Given the description of an element on the screen output the (x, y) to click on. 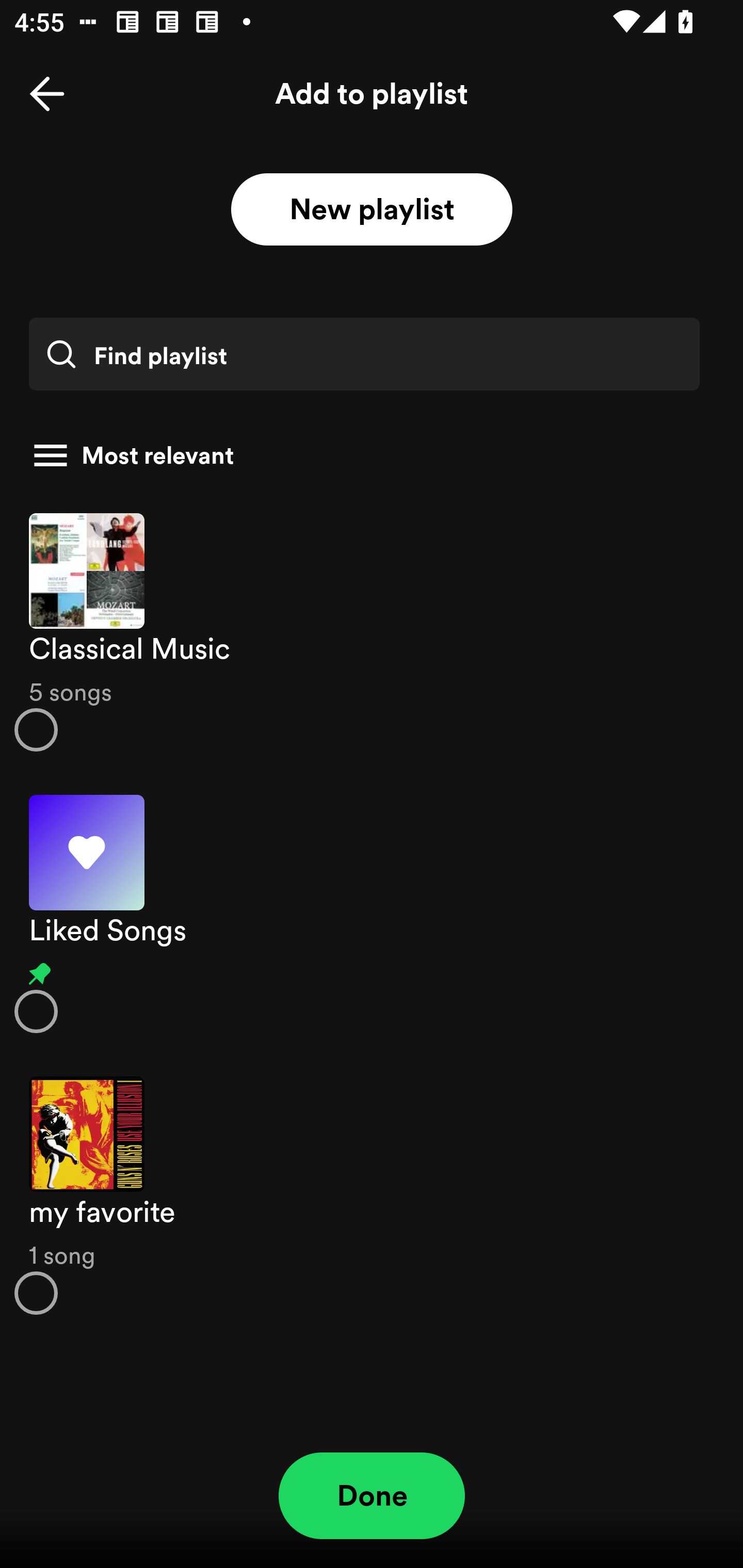
Back (46, 93)
New playlist (371, 210)
Find playlist (363, 354)
Most relevant (363, 455)
Classical Music 5 songs (371, 631)
Liked Songs Pinned (371, 914)
my favorite 1 song (371, 1195)
Done (371, 1495)
